Given the description of an element on the screen output the (x, y) to click on. 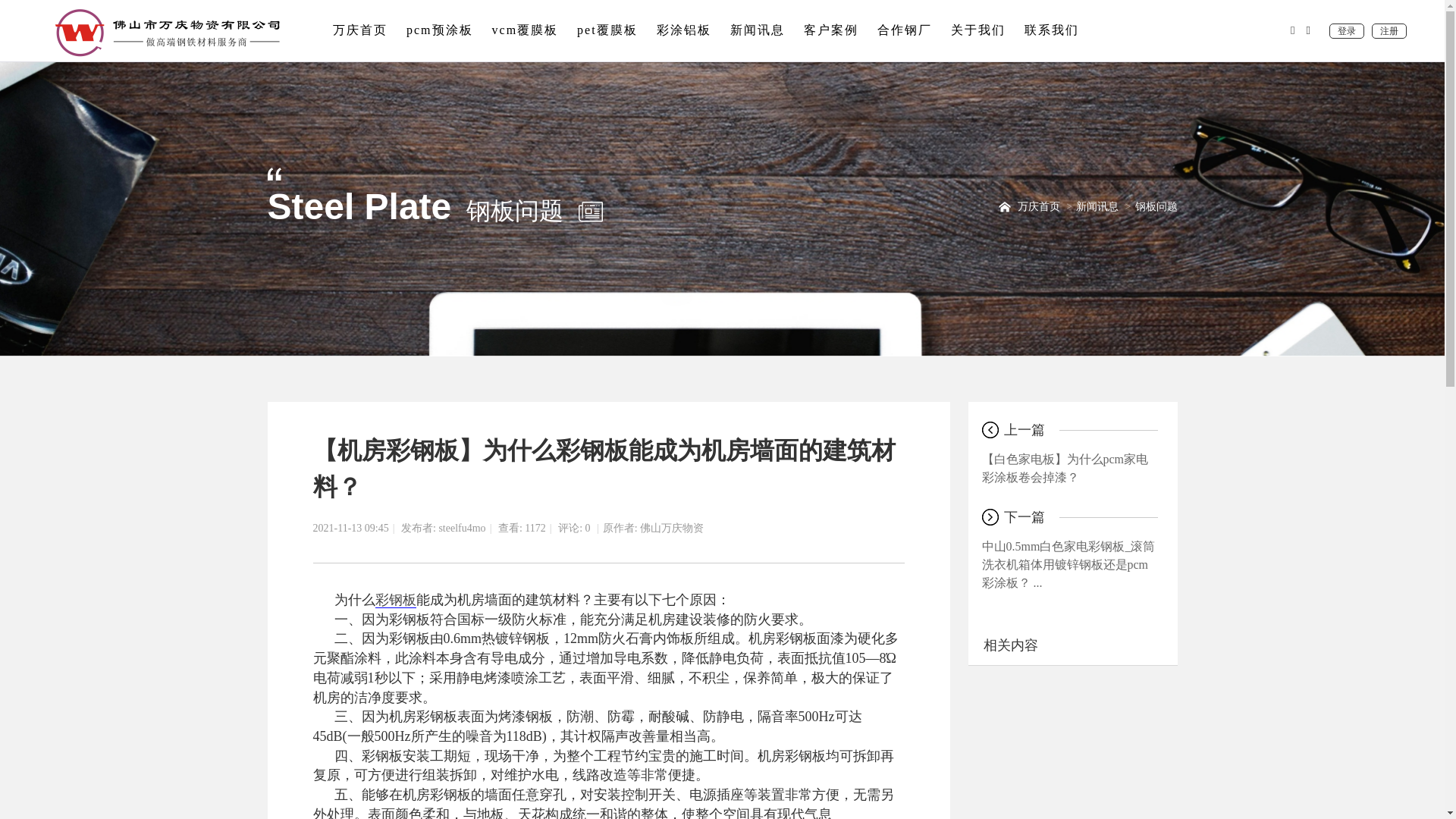
steelfu4mo (461, 527)
